Given the description of an element on the screen output the (x, y) to click on. 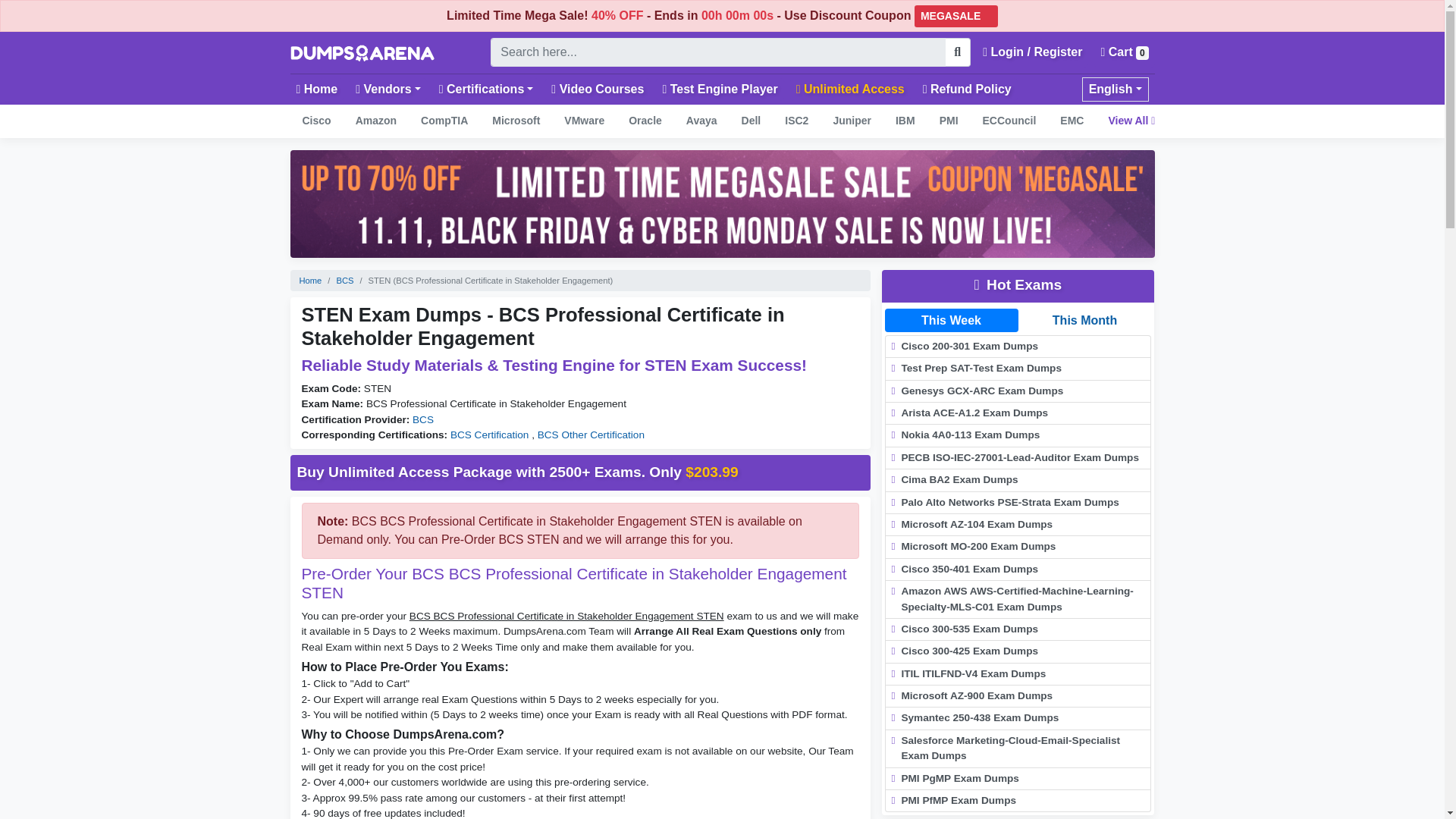
Cart 0 (1124, 51)
Home (316, 88)
Vendors (387, 88)
MEGASALE (955, 15)
